Given the description of an element on the screen output the (x, y) to click on. 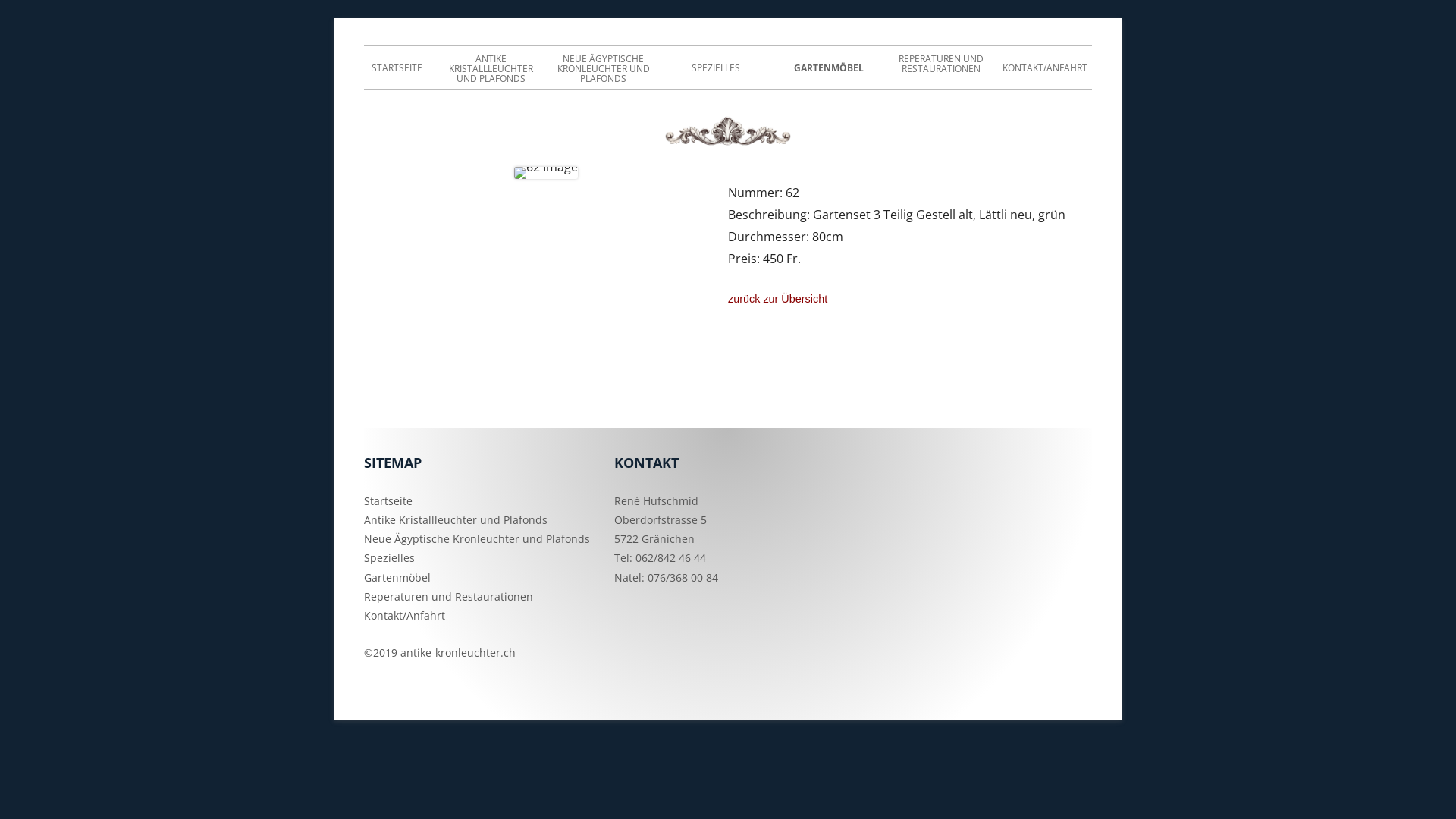
Antike Kronleuchter Element type: text (456, 45)
Kontakt/Anfahrt Element type: text (404, 615)
Reperaturen und Restaurationen Element type: text (448, 596)
ANTIKE KRISTALLLEUCHTER UND PLAFONDS Element type: text (490, 68)
Spezielles Element type: text (389, 557)
SPEZIELLES Element type: text (715, 67)
Antike Kristallleuchter und Plafonds Element type: text (455, 519)
Springe zum Inhalt Element type: text (0, 18)
KONTAKT/ANFAHRT Element type: text (1044, 67)
REPERATUREN UND RESTAURATIONEN Element type: text (940, 63)
Startseite Element type: text (388, 500)
STARTSEITE Element type: text (396, 67)
